Given the description of an element on the screen output the (x, y) to click on. 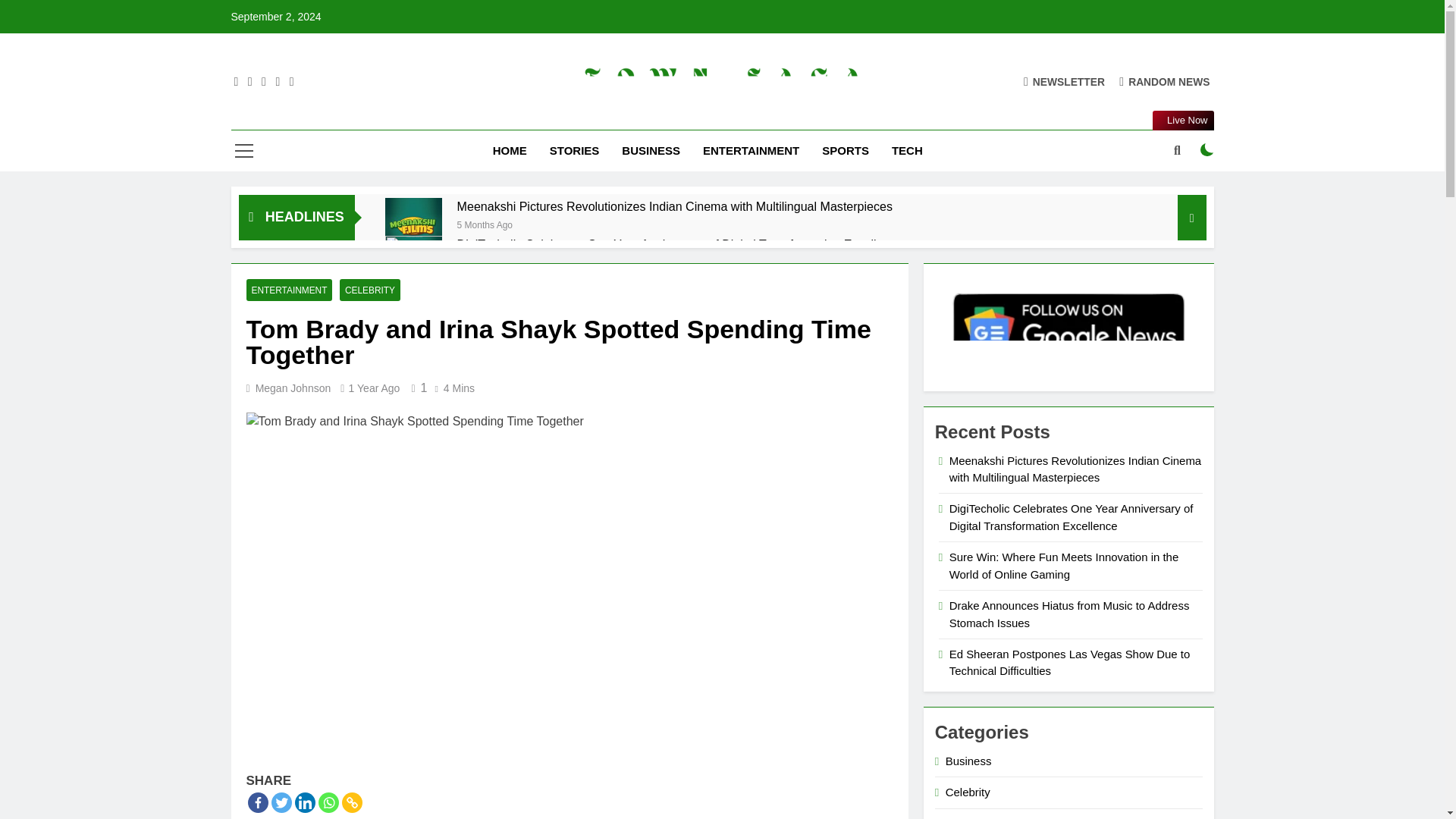
ENTERTAINMENT (750, 150)
Live Now (1183, 120)
5 Months Ago (484, 223)
RANDOM NEWS (1164, 80)
NEWSLETTER (1064, 80)
